Given the description of an element on the screen output the (x, y) to click on. 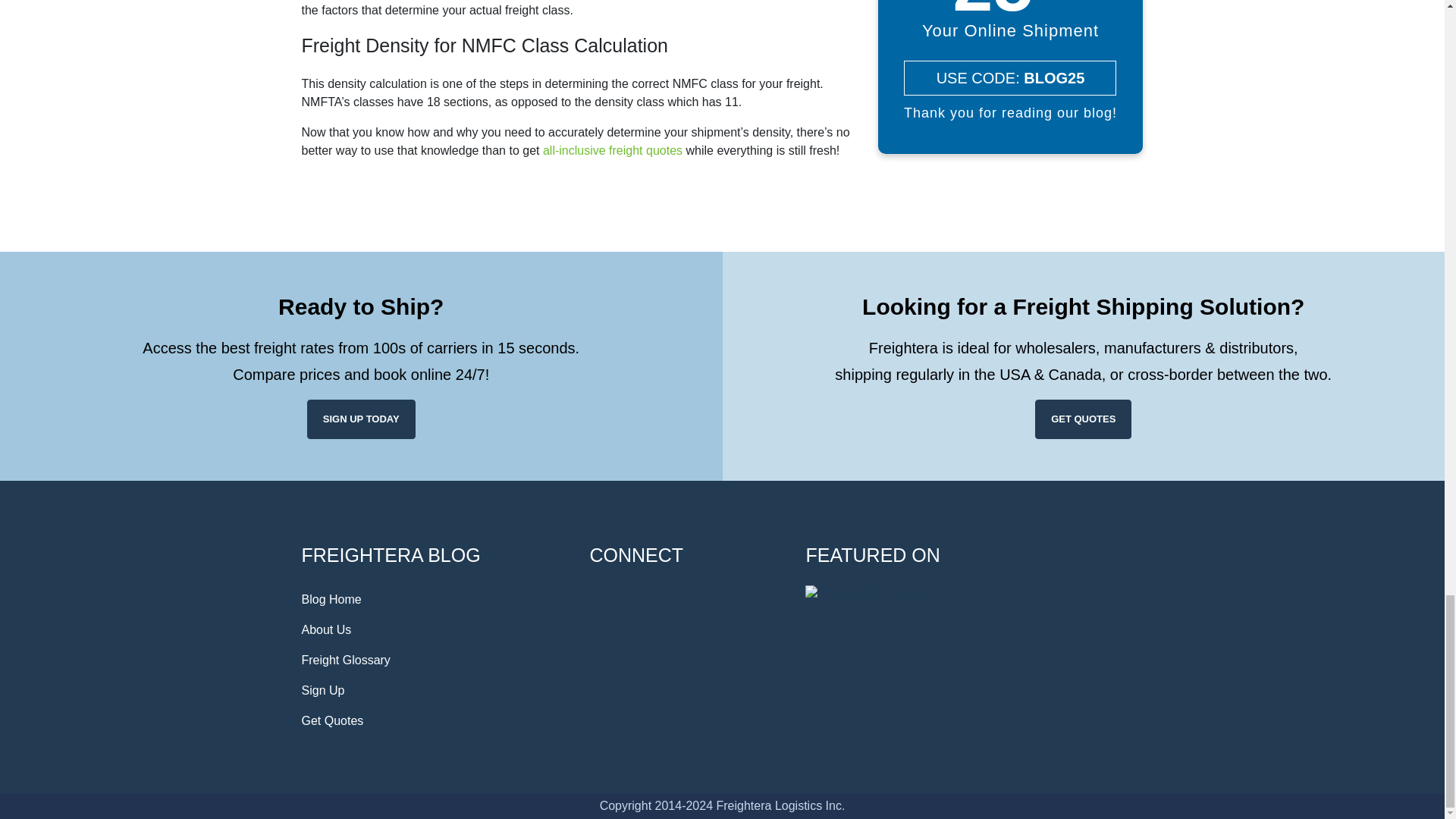
Sign Up (434, 690)
GET QUOTES (1083, 418)
Blog Home (434, 599)
Get Quotes (434, 720)
About Us (434, 630)
Supply Chain Brief (861, 594)
Get Quotes (434, 720)
Freight Glossary (434, 660)
SIGN UP TODAY (360, 418)
Blog Home (434, 599)
